Given the description of an element on the screen output the (x, y) to click on. 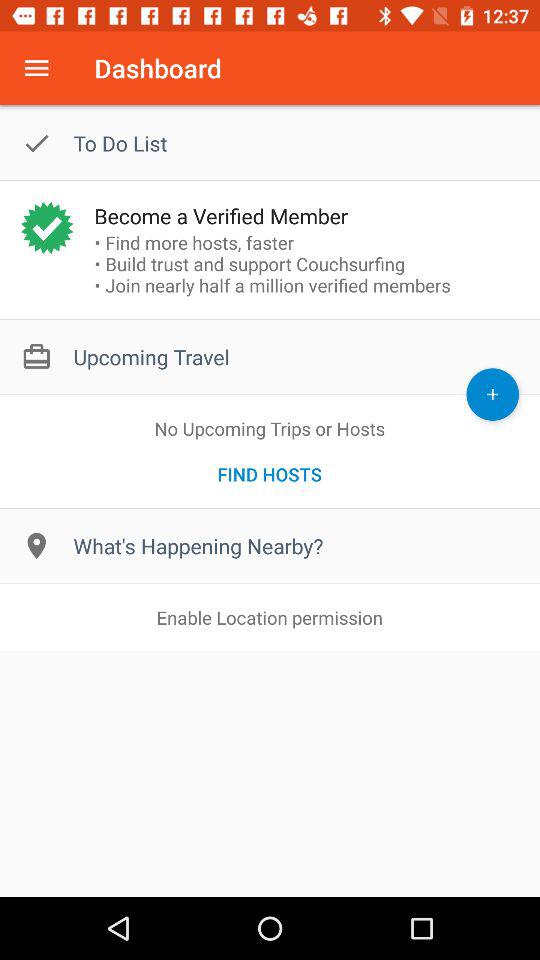
launch icon on the right (492, 394)
